Given the description of an element on the screen output the (x, y) to click on. 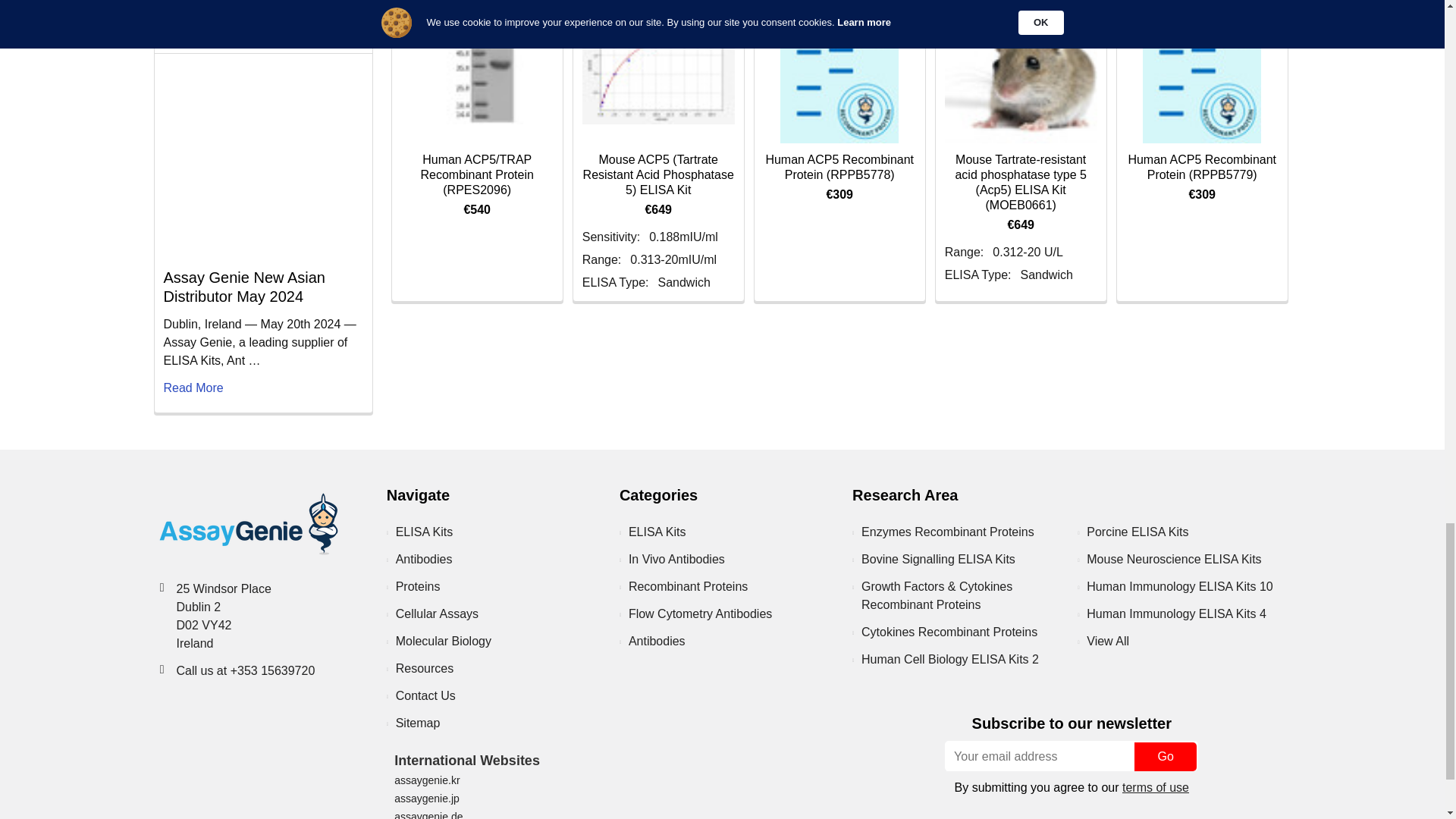
Human ACP5 Recombinant Protein RPPB5778 (838, 71)
Assay Genie New Asian Distributor May 2024 (262, 159)
